Given the description of an element on the screen output the (x, y) to click on. 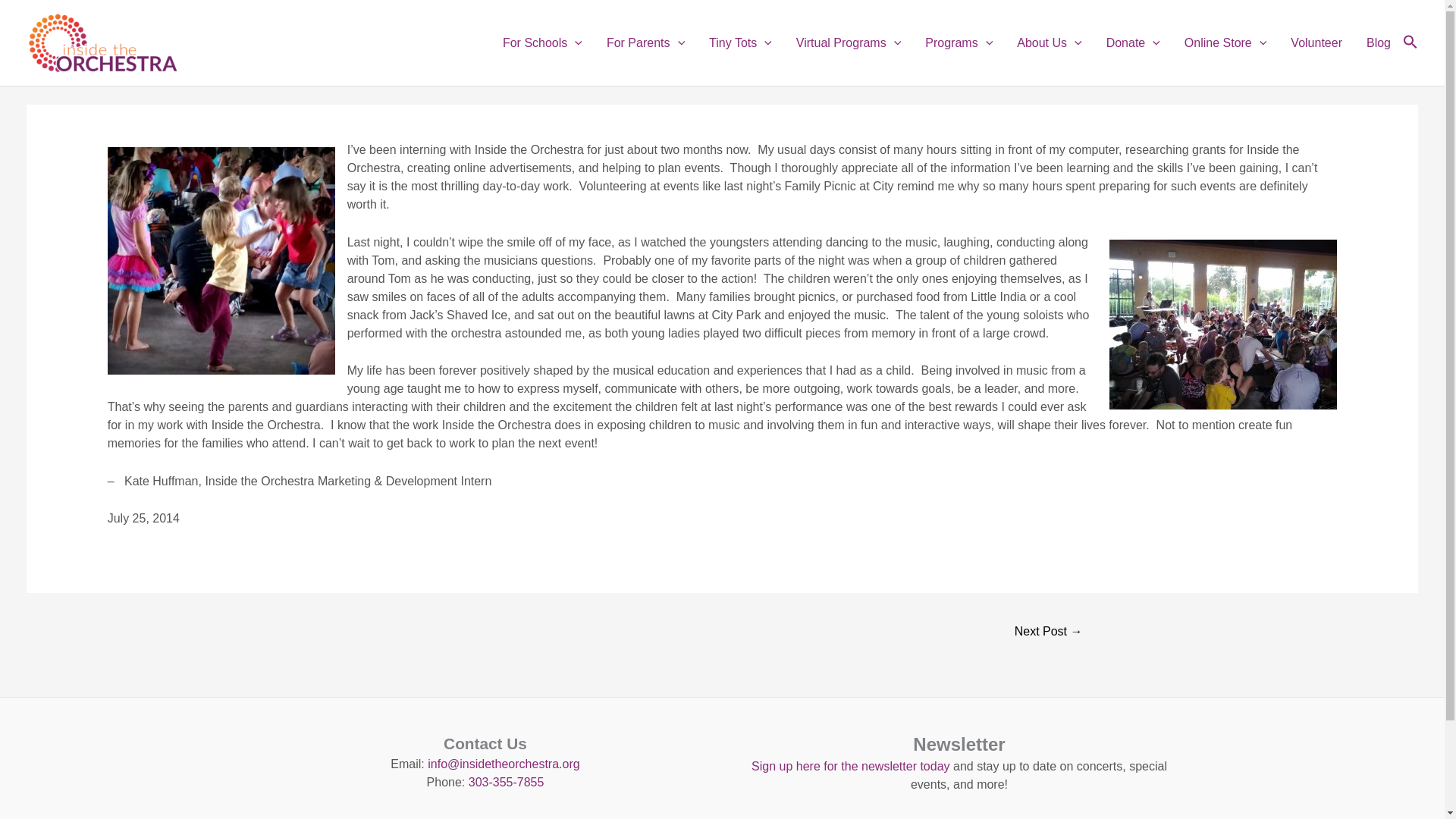
Tiny Tots (740, 42)
Programs (958, 42)
Virtual Programs (848, 42)
For Schools (542, 42)
For Parents (645, 42)
